Given the description of an element on the screen output the (x, y) to click on. 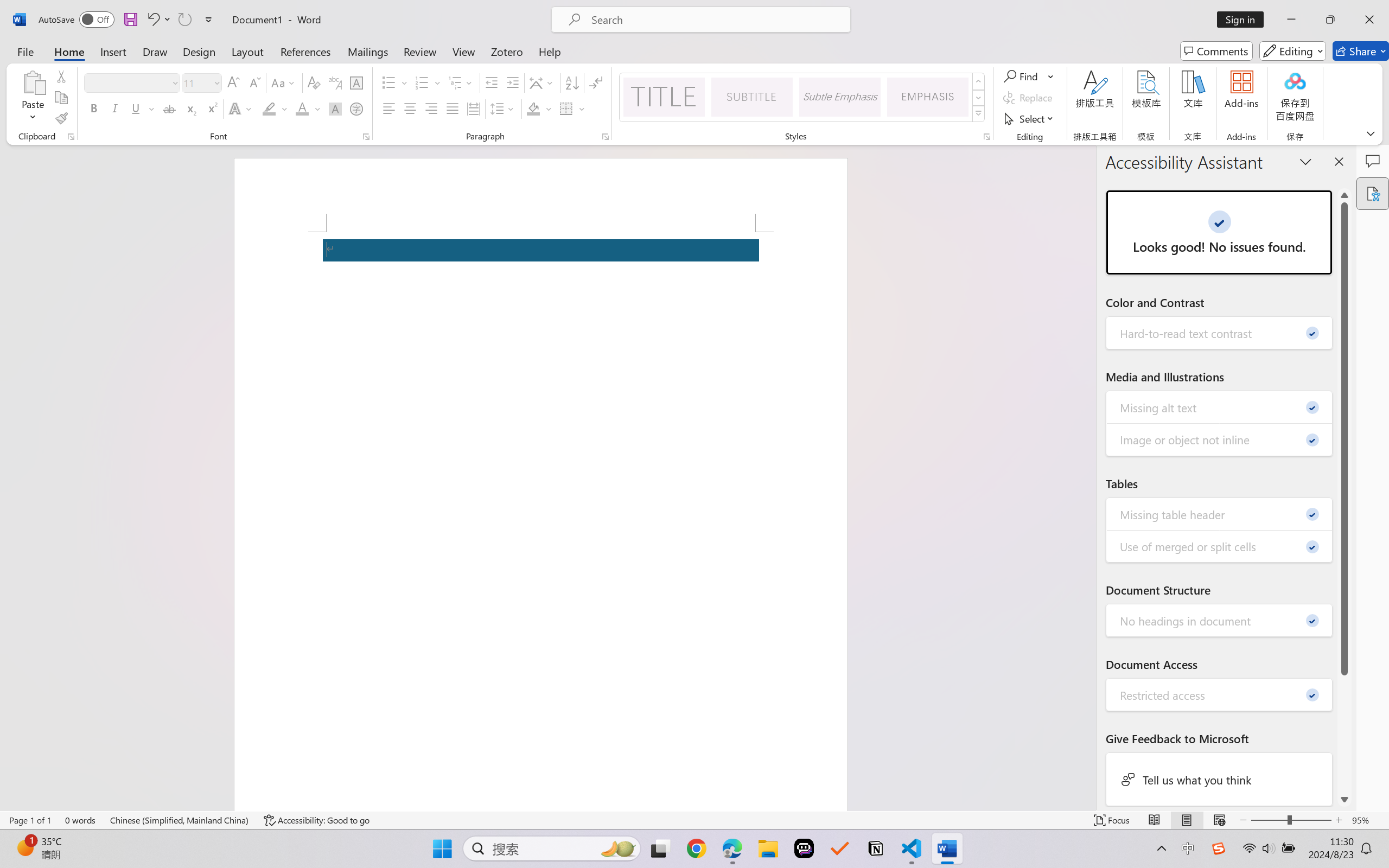
Line down (1344, 799)
Language Chinese (Simplified, Mainland China) (179, 819)
Restricted access - 0 (1219, 694)
